Given the description of an element on the screen output the (x, y) to click on. 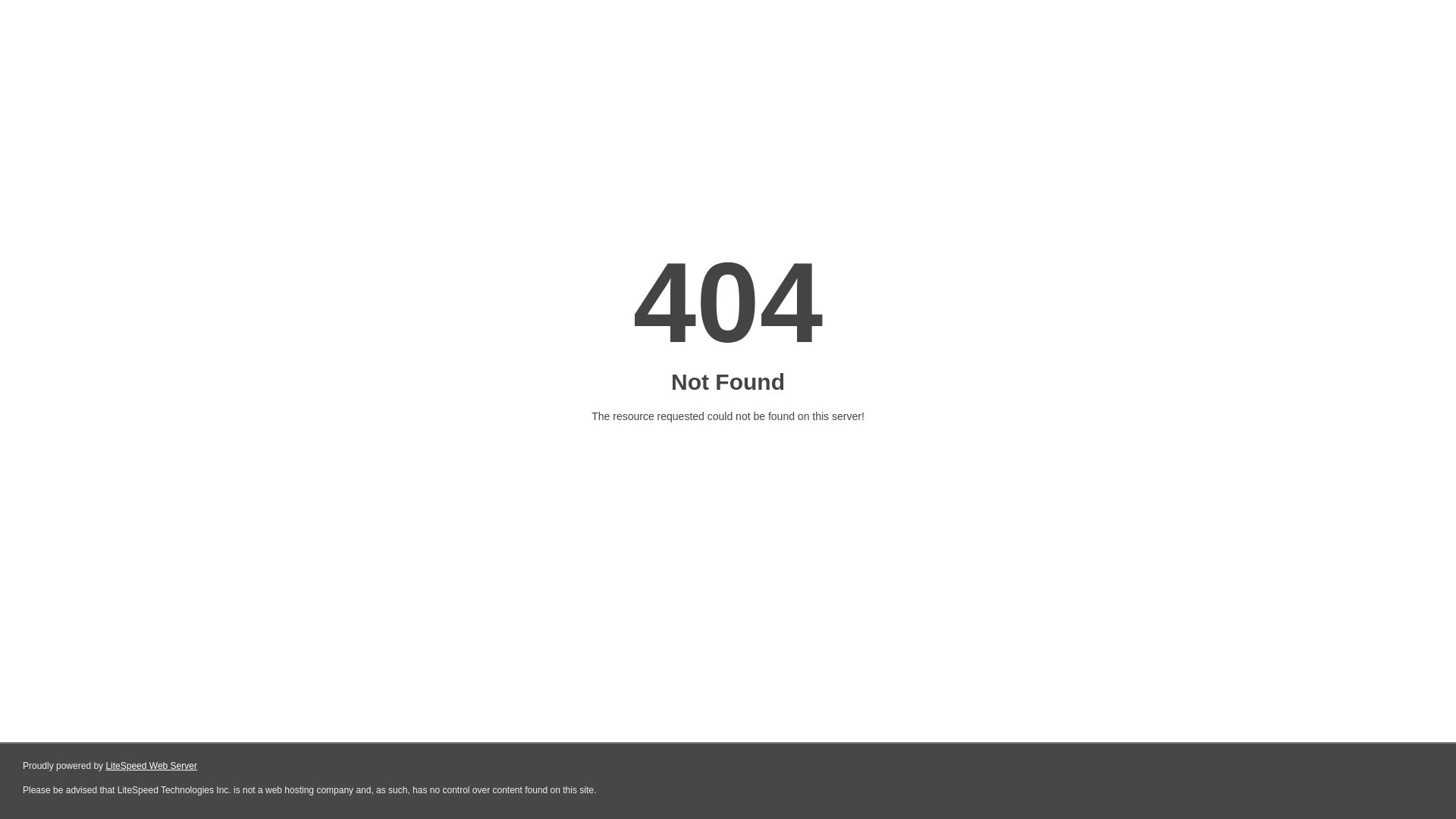
LiteSpeed Web Server Element type: text (151, 765)
